Given the description of an element on the screen output the (x, y) to click on. 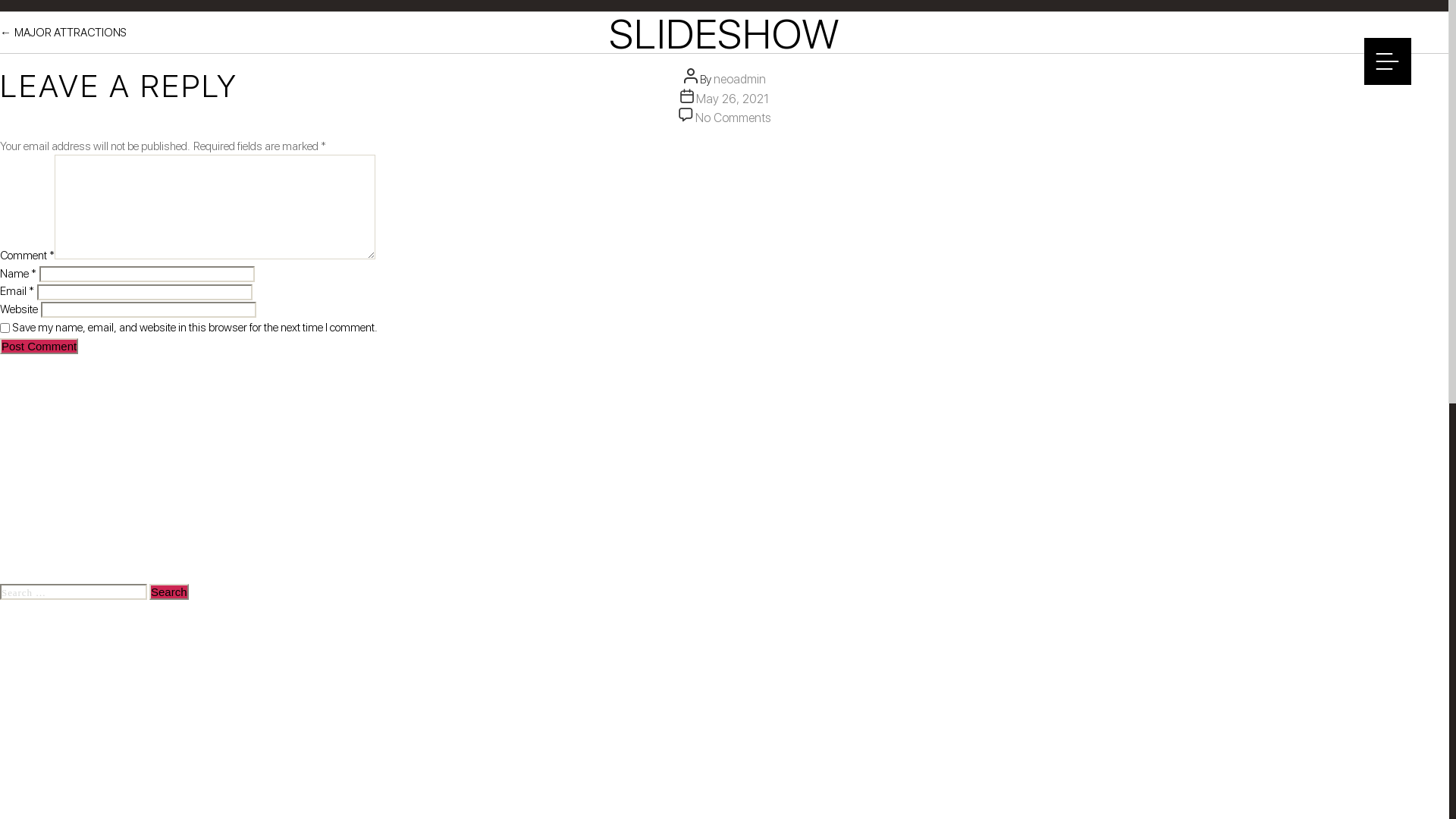
neoadmin Element type: text (738, 79)
Post Comment Element type: text (39, 346)
No Comments
on Slideshow Element type: text (732, 117)
May 26, 2021 Element type: text (732, 98)
Search Element type: text (168, 591)
